Given the description of an element on the screen output the (x, y) to click on. 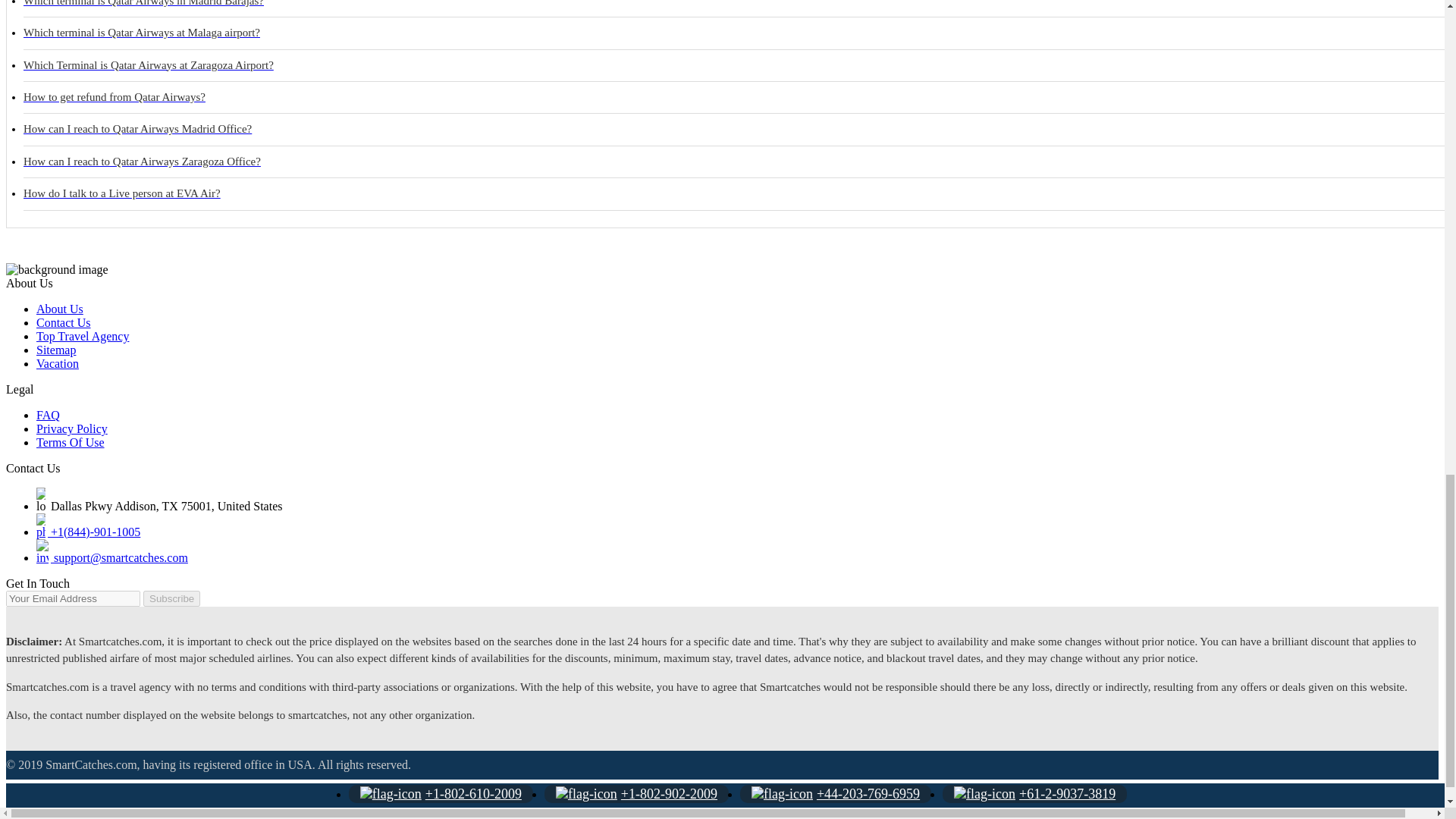
Top Travel Agency (82, 336)
Contact Us (63, 322)
Sitemap (55, 349)
How to get refund from Qatar Airways? (739, 97)
How can I reach to Qatar Airways Madrid Office? (739, 129)
Vacation (57, 363)
Which Terminal is Qatar Airways at Zaragoza Airport? (739, 65)
How do I talk to a Live person at EVA Air? (739, 193)
How can I reach to Qatar Airways Zaragoza Office? (739, 162)
About Us (59, 308)
